Given the description of an element on the screen output the (x, y) to click on. 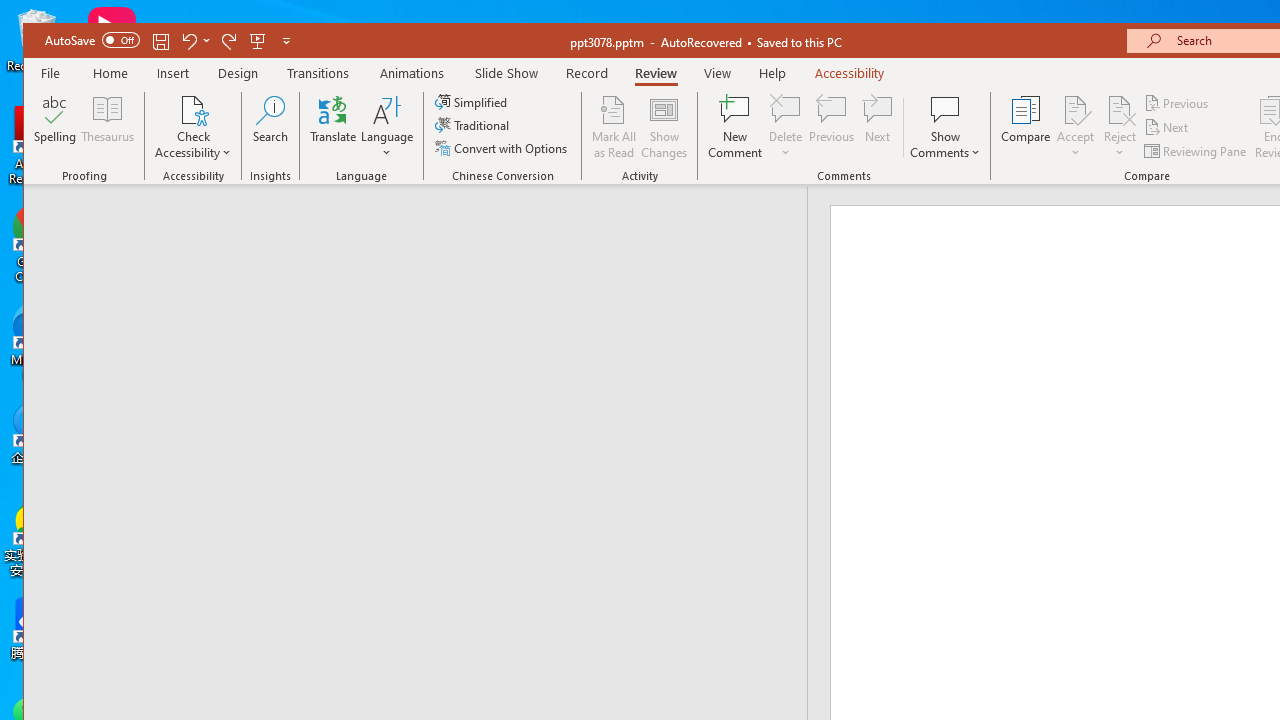
Show Changes (663, 127)
Reviewing Pane (1196, 150)
Traditional (473, 124)
New Comment (735, 127)
Compare (1025, 127)
Accept Change (1075, 109)
